Given the description of an element on the screen output the (x, y) to click on. 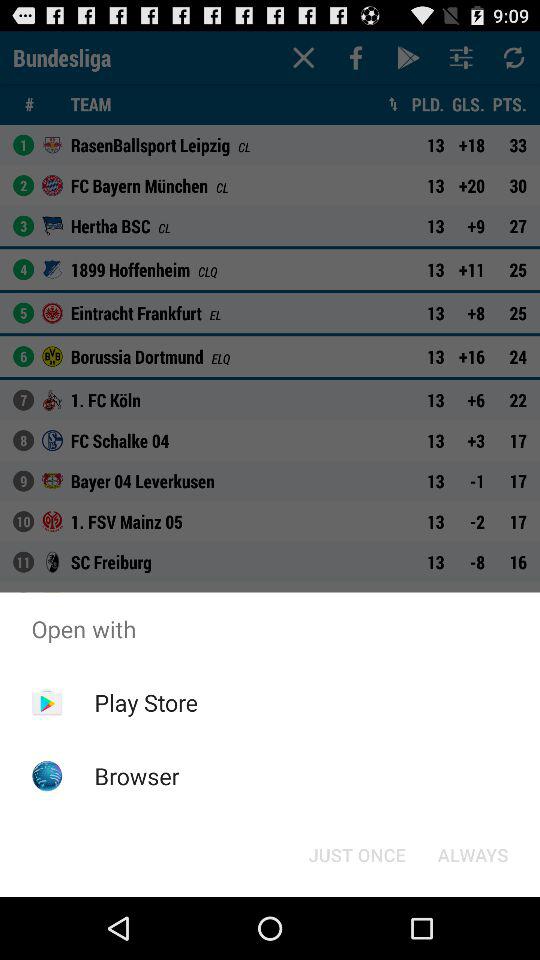
select just once button (356, 854)
